Given the description of an element on the screen output the (x, y) to click on. 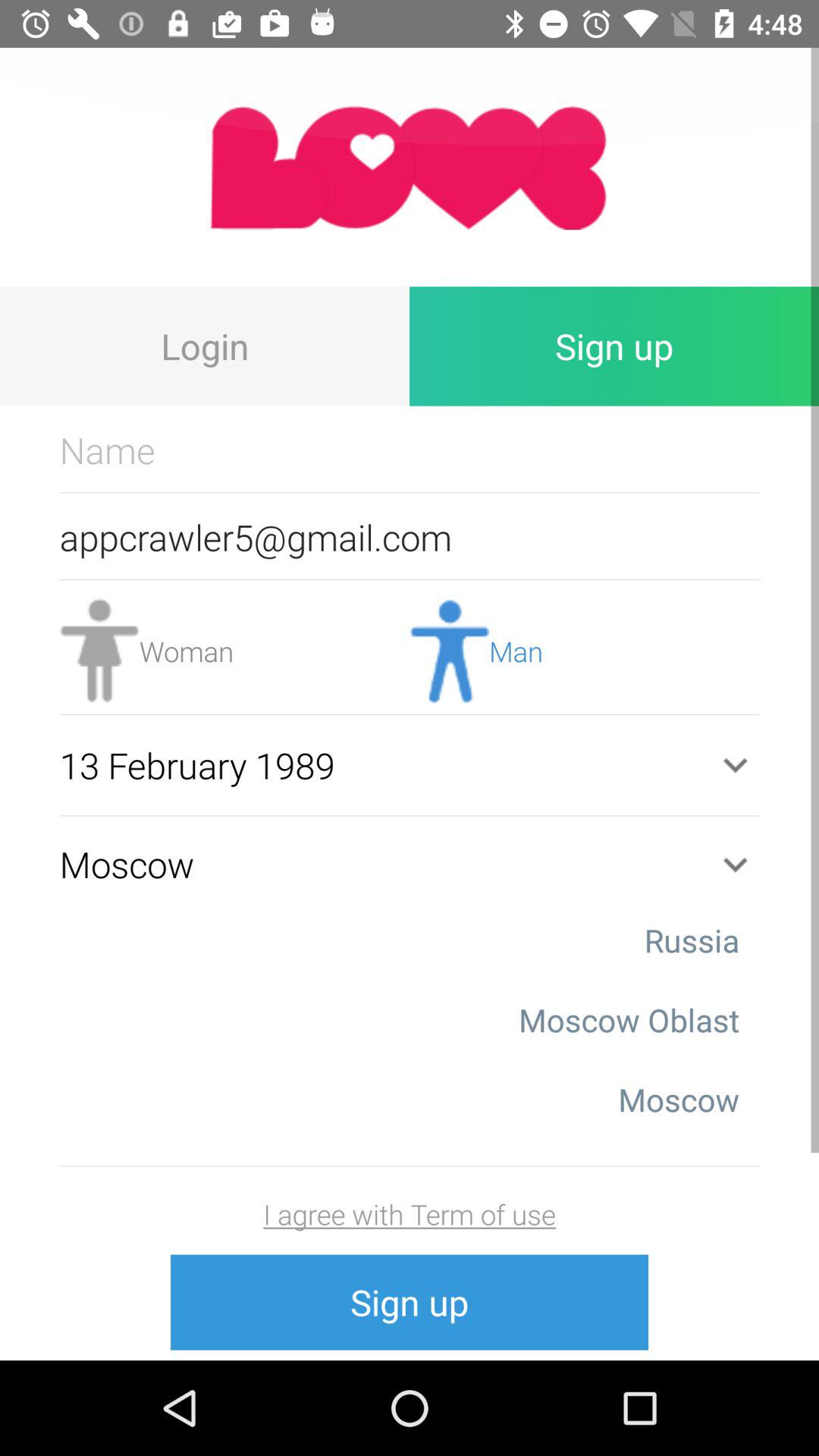
enter name (409, 449)
